Given the description of an element on the screen output the (x, y) to click on. 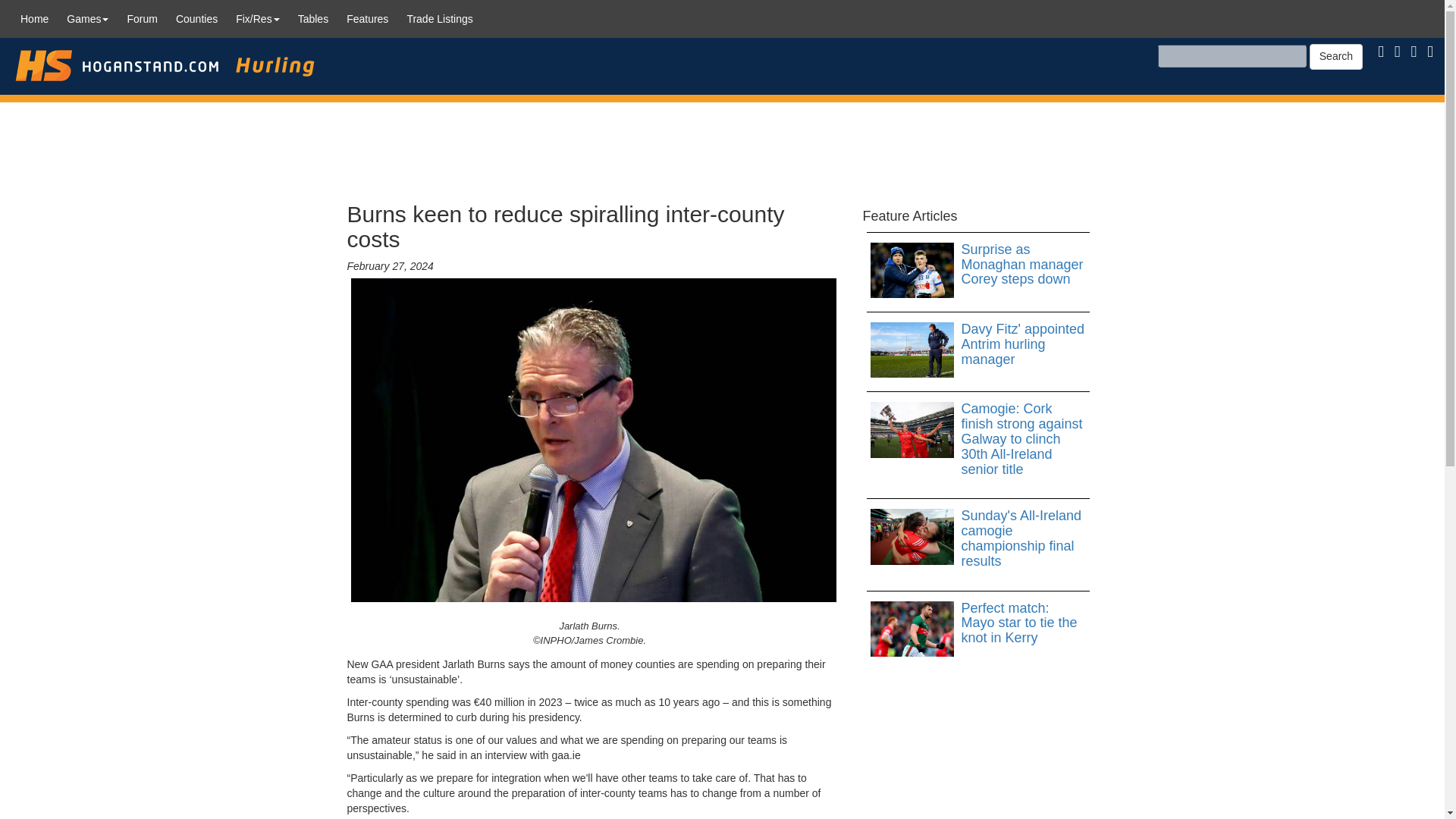
Surprise as Monaghan manager Corey steps down (978, 264)
Forum (141, 18)
Davy Fitz' appointed Antrim hurling manager (978, 344)
Sunday's All-Ireland camogie championship final results (978, 538)
Home (34, 18)
Tables (312, 18)
Games (87, 18)
Perfect match: Mayo star to tie the knot in Kerry (978, 623)
Features (367, 18)
